Given the description of an element on the screen output the (x, y) to click on. 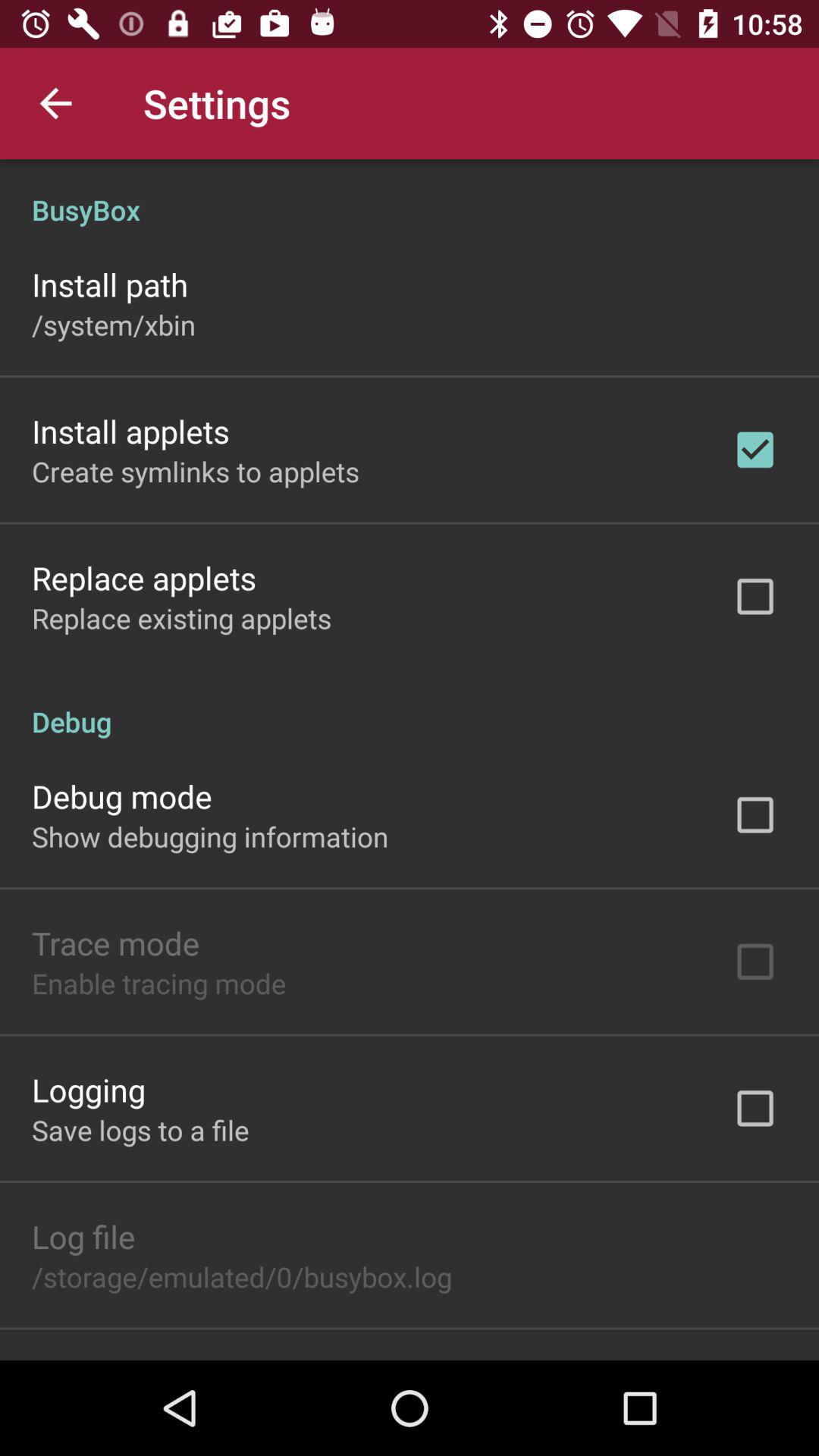
choose the item below logging item (140, 1129)
